Given the description of an element on the screen output the (x, y) to click on. 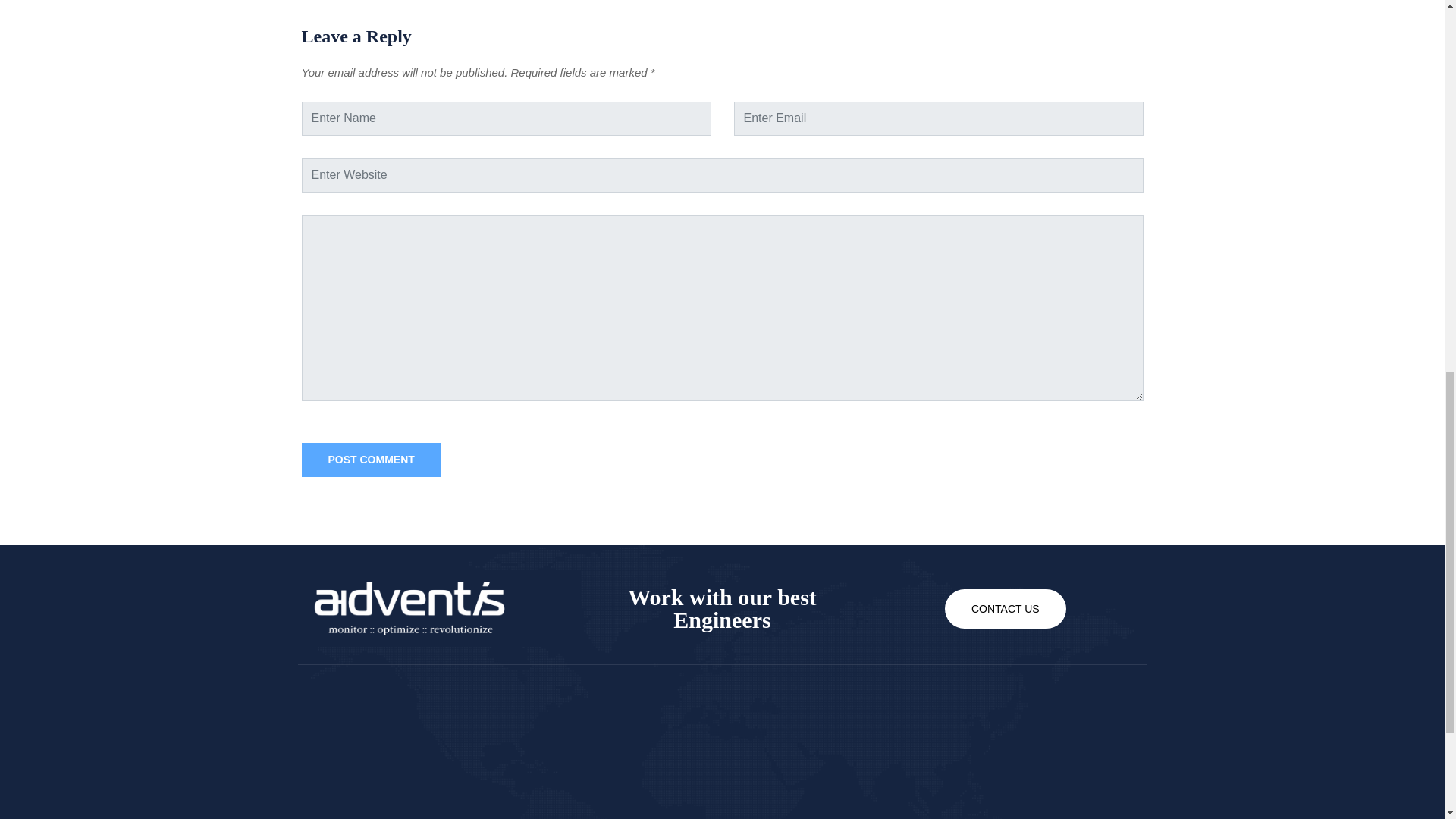
CONTACT US (1004, 608)
Post Comment (371, 459)
Post Comment (371, 459)
